Given the description of an element on the screen output the (x, y) to click on. 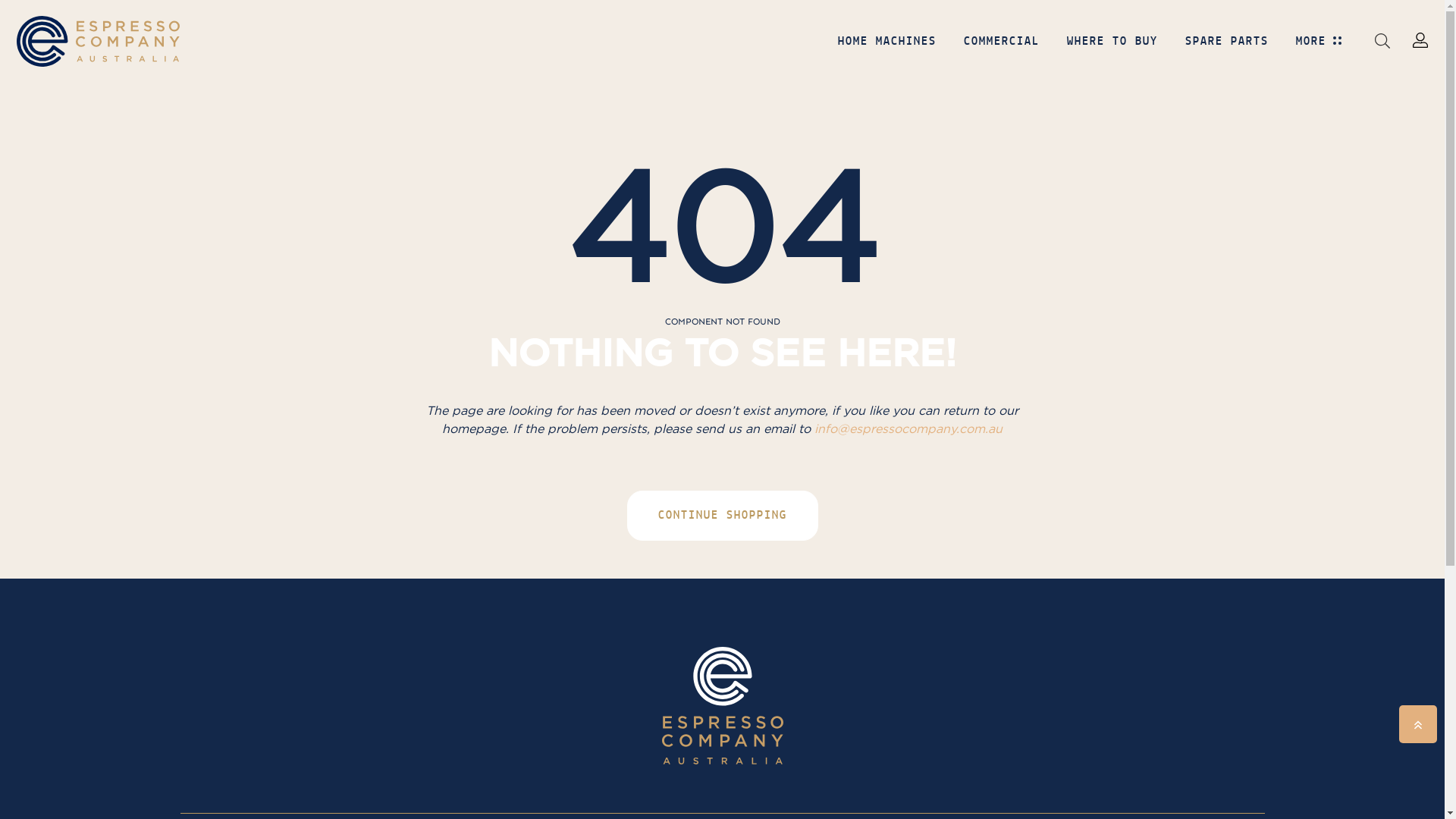
MORE Element type: text (1310, 47)
info@espressocompany.com.au Element type: text (908, 428)
COMMERCIAL Element type: text (1001, 47)
HOME MACHINES Element type: text (887, 47)
WHERE TO BUY Element type: text (1112, 47)
CONTINUE SHOPPING Element type: text (721, 515)
Espresso Company Australia Element type: hover (721, 704)
Espresso Company Australia Element type: hover (97, 40)
SPARE PARTS Element type: text (1226, 47)
